Given the description of an element on the screen output the (x, y) to click on. 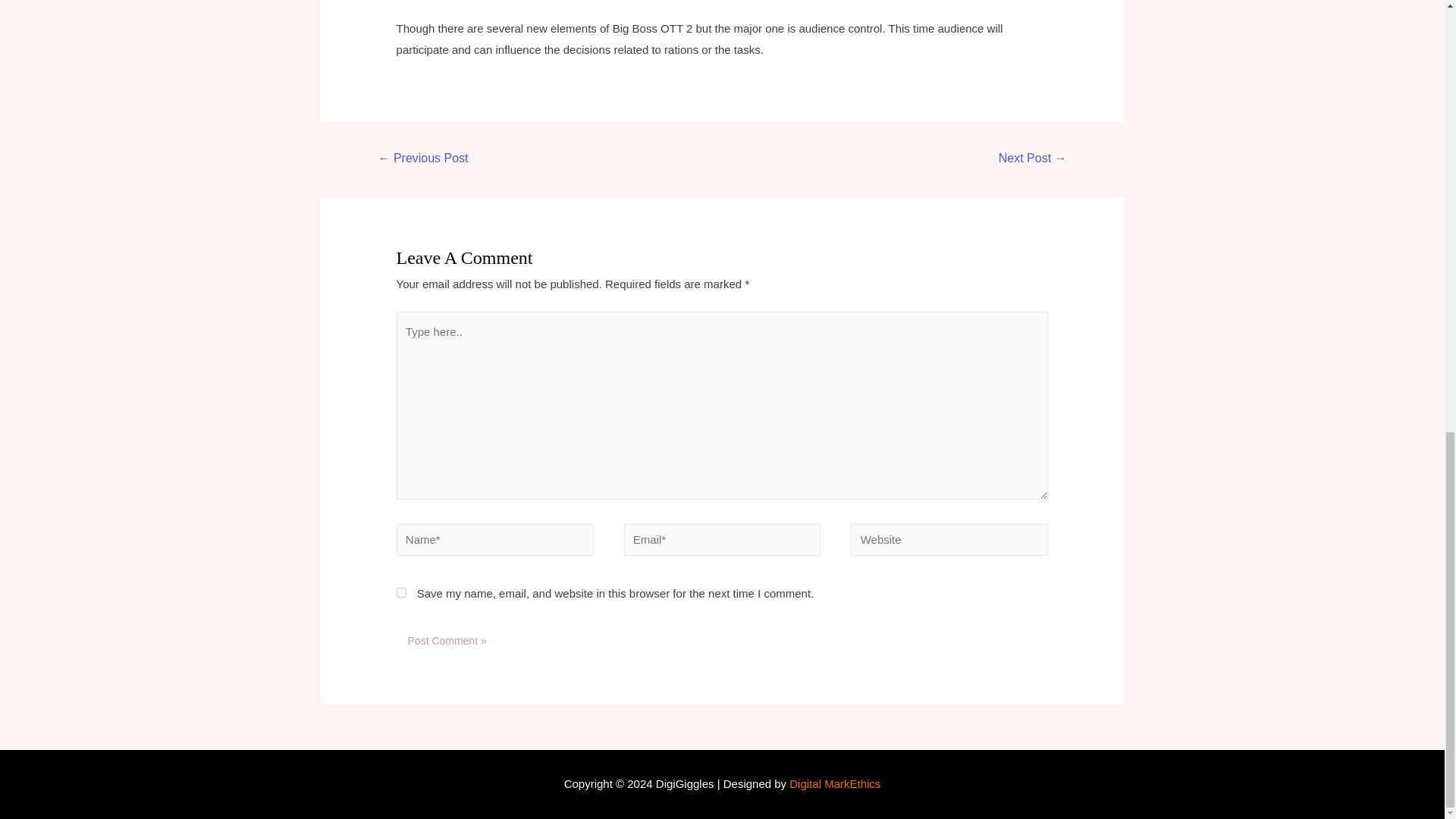
yes (401, 592)
